Given the description of an element on the screen output the (x, y) to click on. 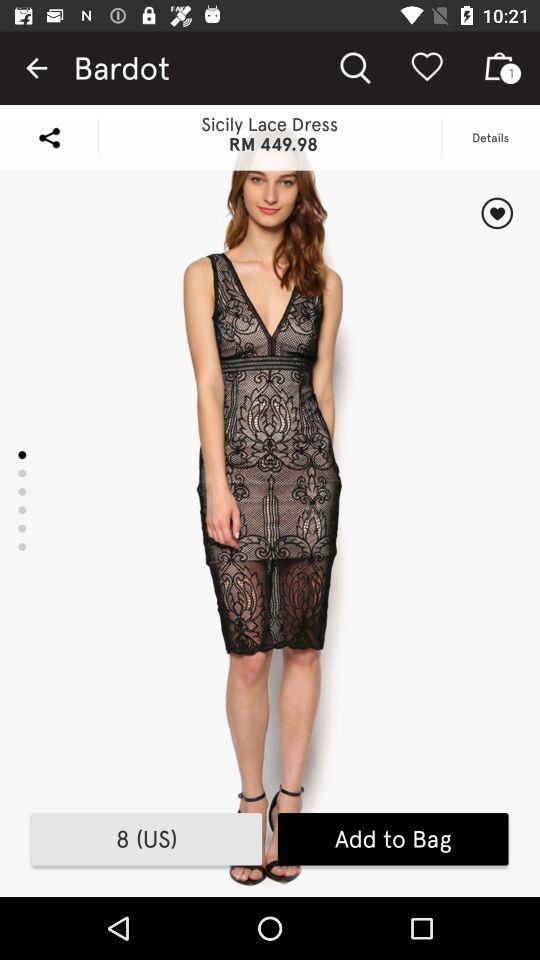
share (49, 137)
